Given the description of an element on the screen output the (x, y) to click on. 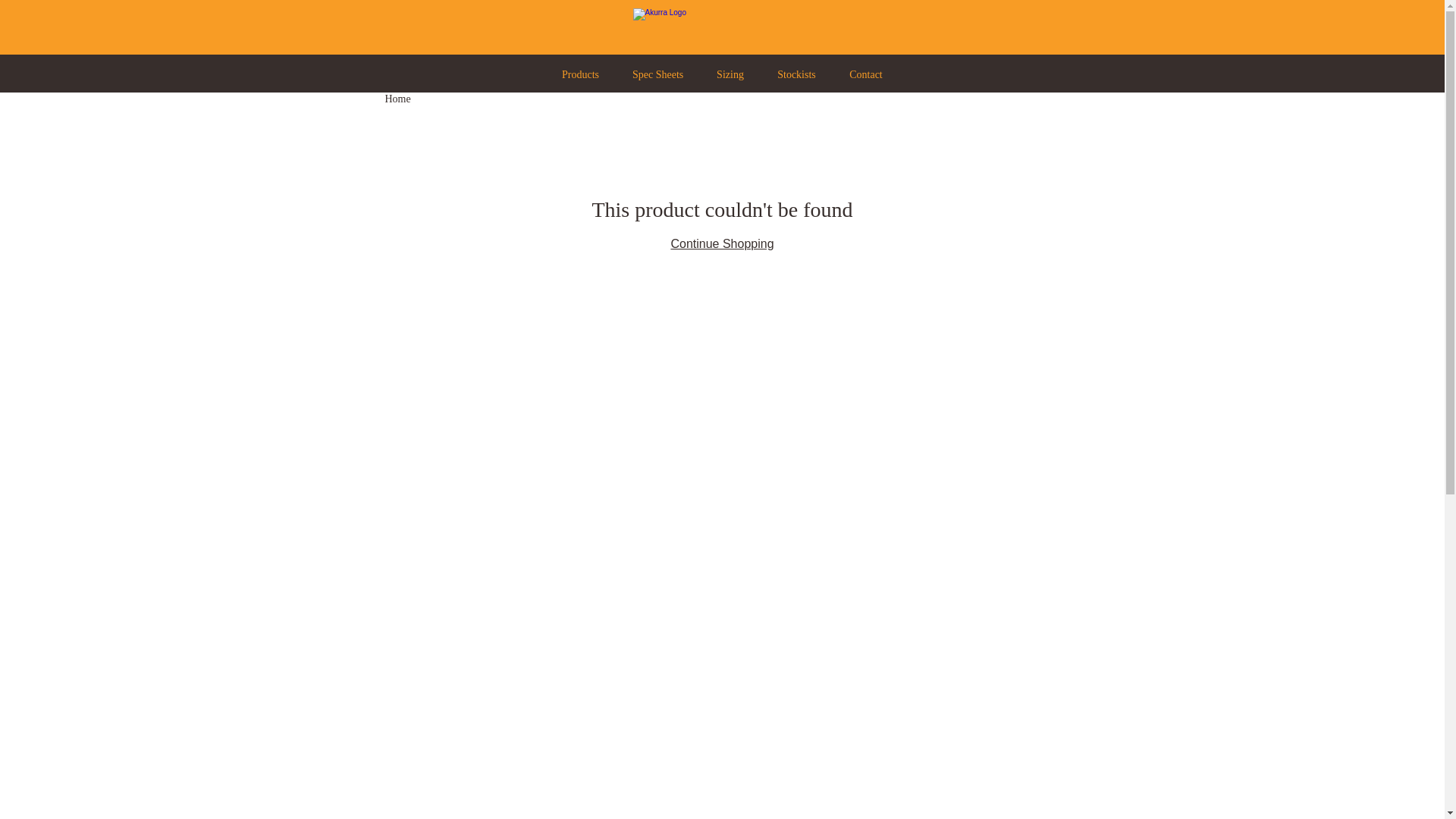
Home Element type: text (398, 98)
Continue Shopping Element type: text (721, 243)
Sizing Element type: text (729, 72)
Stockists Element type: text (796, 72)
Contact Element type: text (865, 72)
Spec Sheets Element type: text (657, 72)
